Given the description of an element on the screen output the (x, y) to click on. 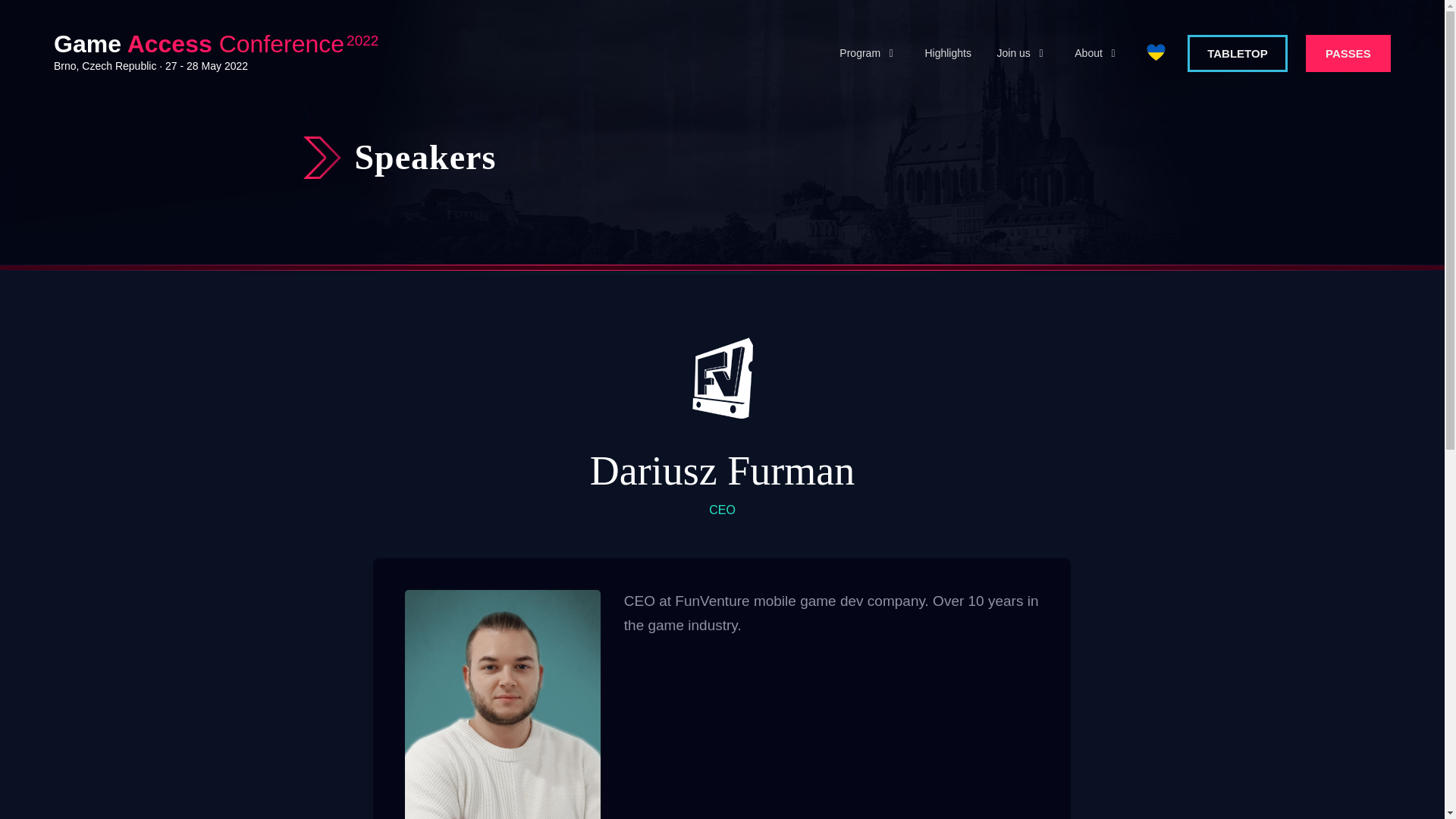
TABLETOP (1237, 53)
Join us   (1023, 54)
About   (1097, 54)
Highlights (948, 54)
PASSES (1348, 53)
Program   (868, 54)
